Given the description of an element on the screen output the (x, y) to click on. 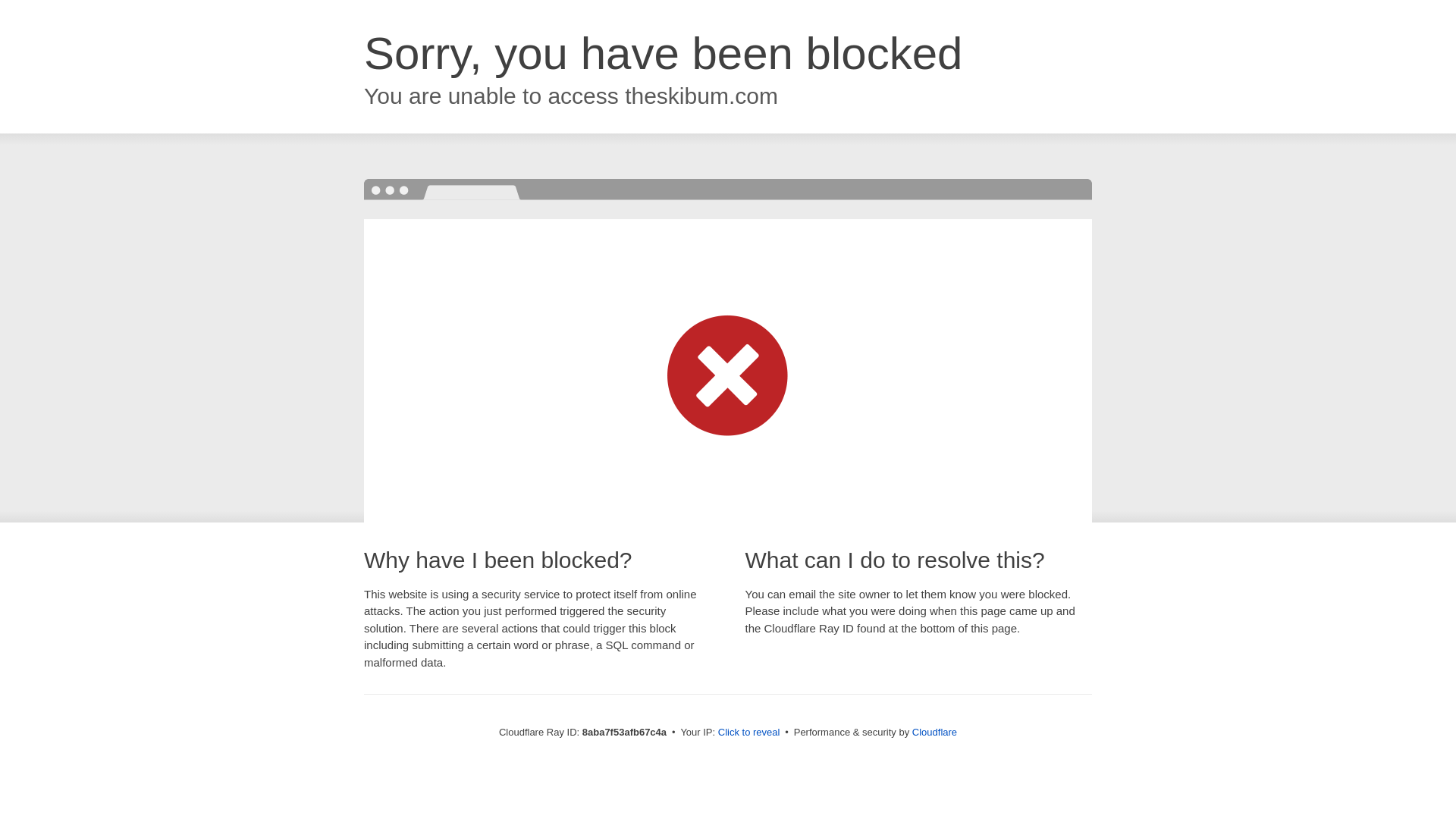
Cloudflare (934, 731)
Click to reveal (748, 732)
